Given the description of an element on the screen output the (x, y) to click on. 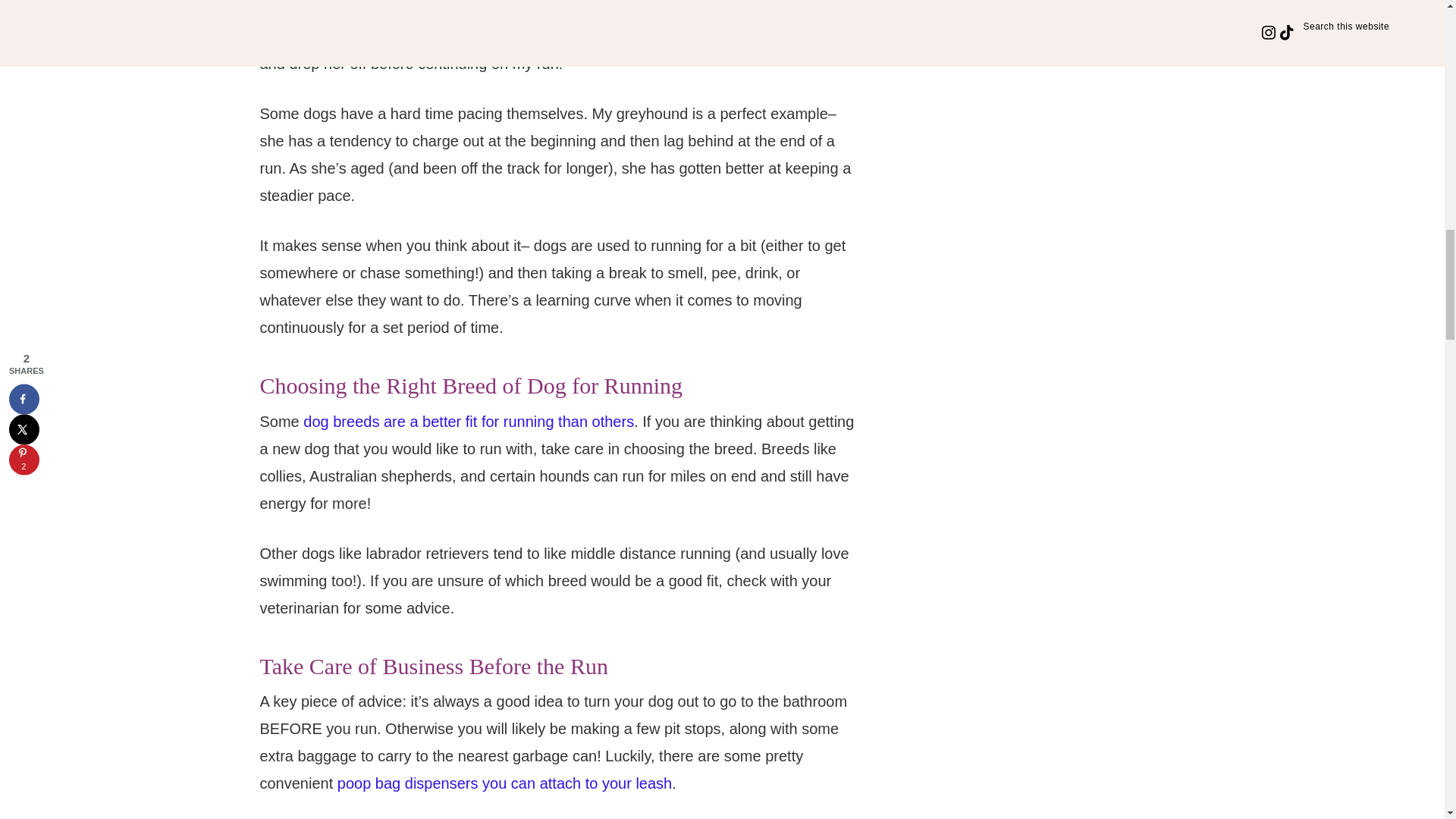
poop bag dispensers you can attach to your leash (504, 782)
running with my greyhound (350, 36)
dog breeds are a better fit for running than others (467, 421)
